Given the description of an element on the screen output the (x, y) to click on. 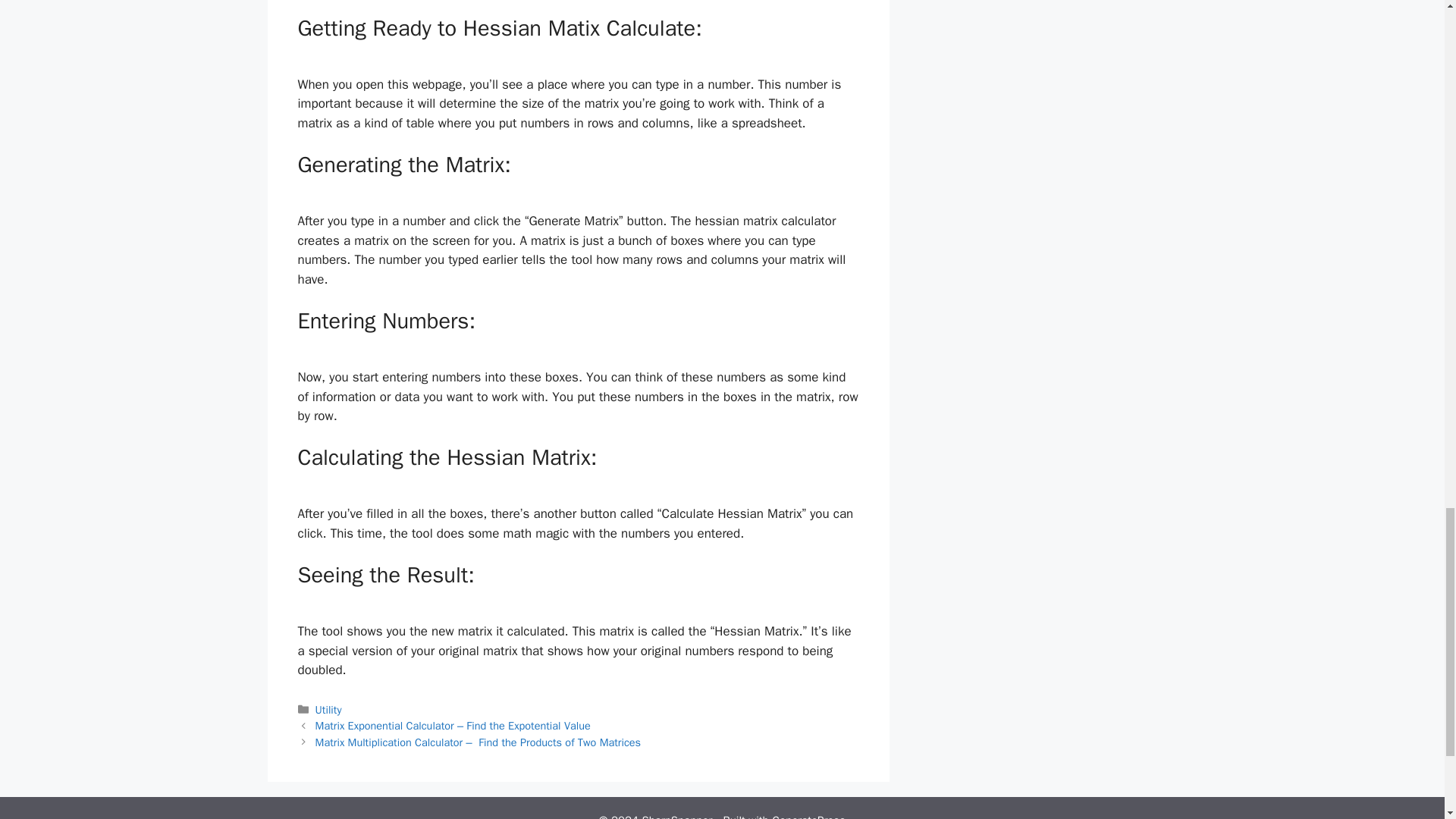
Utility (328, 709)
GeneratePress (808, 816)
